Given the description of an element on the screen output the (x, y) to click on. 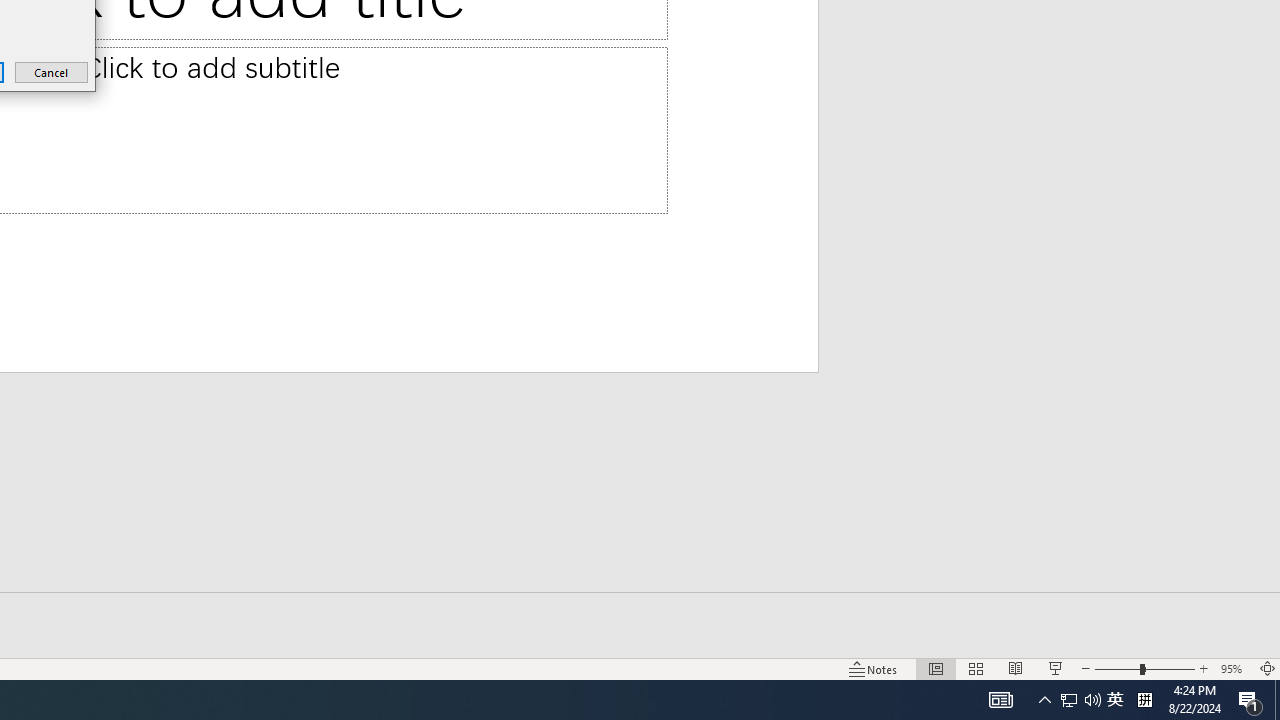
Action Center, 1 new notification (1250, 699)
Cancel (51, 72)
